Given the description of an element on the screen output the (x, y) to click on. 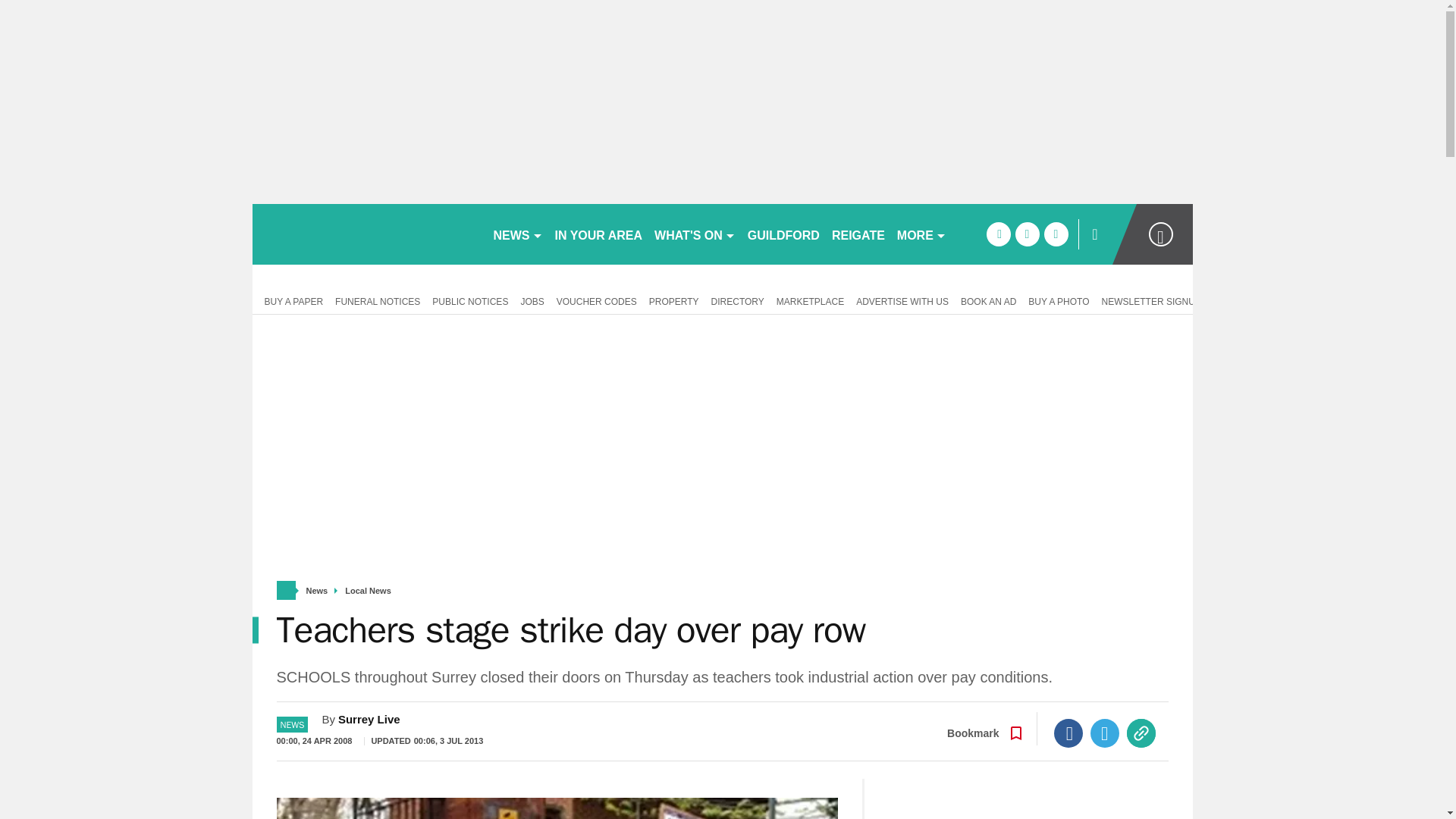
GUILDFORD (783, 233)
instagram (1055, 233)
facebook (997, 233)
BUY A PAPER (290, 300)
WHAT'S ON (694, 233)
twitter (1026, 233)
VOUCHER CODES (596, 300)
PUBLIC NOTICES (469, 300)
getsurrey (365, 233)
FUNERAL NOTICES (377, 300)
